Given the description of an element on the screen output the (x, y) to click on. 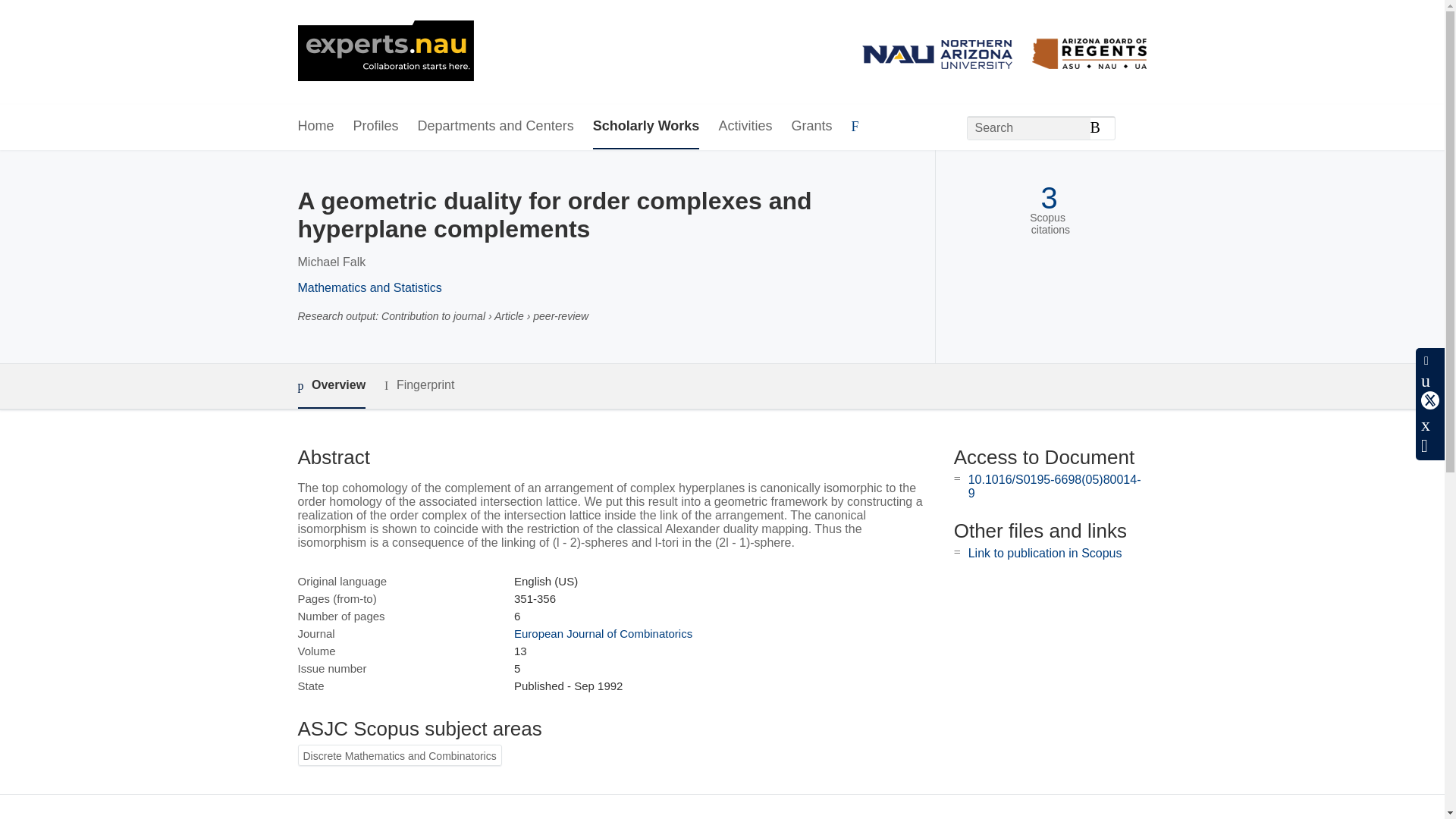
Profiles (375, 126)
Activities (744, 126)
Scholarly Works (646, 126)
Home (315, 126)
Departments and Centers (495, 126)
Overview (331, 385)
Grants (810, 126)
Fingerprint (419, 385)
Mathematics and Statistics (369, 287)
European Journal of Combinatorics (603, 633)
3 (1049, 198)
Northern Arizona University Home (385, 52)
Link to publication in Scopus (1045, 553)
